Given the description of an element on the screen output the (x, y) to click on. 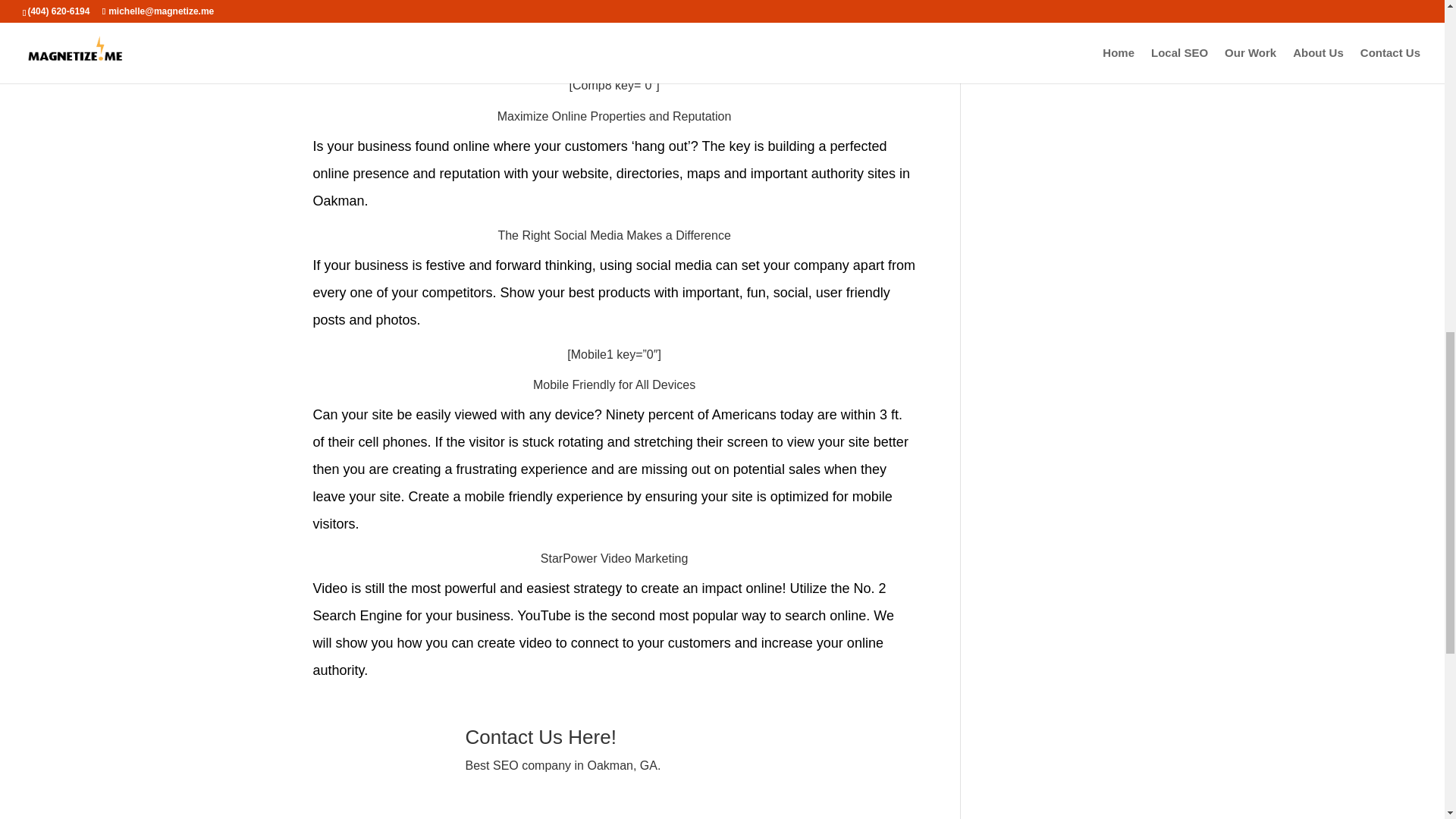
Contact Us Here!   (546, 736)
